Given the description of an element on the screen output the (x, y) to click on. 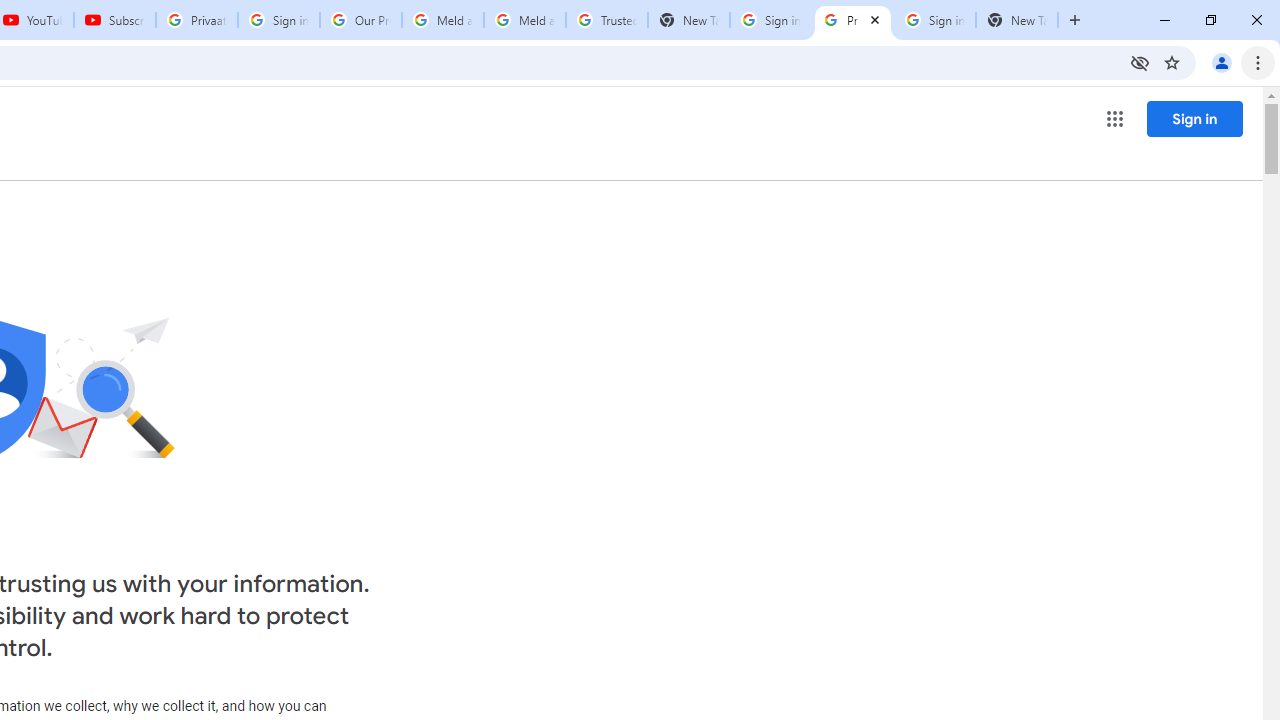
Subscriptions - YouTube (115, 20)
Trusted Information and Content - Google Safety Center (606, 20)
Sign in - Google Accounts (770, 20)
